Given the description of an element on the screen output the (x, y) to click on. 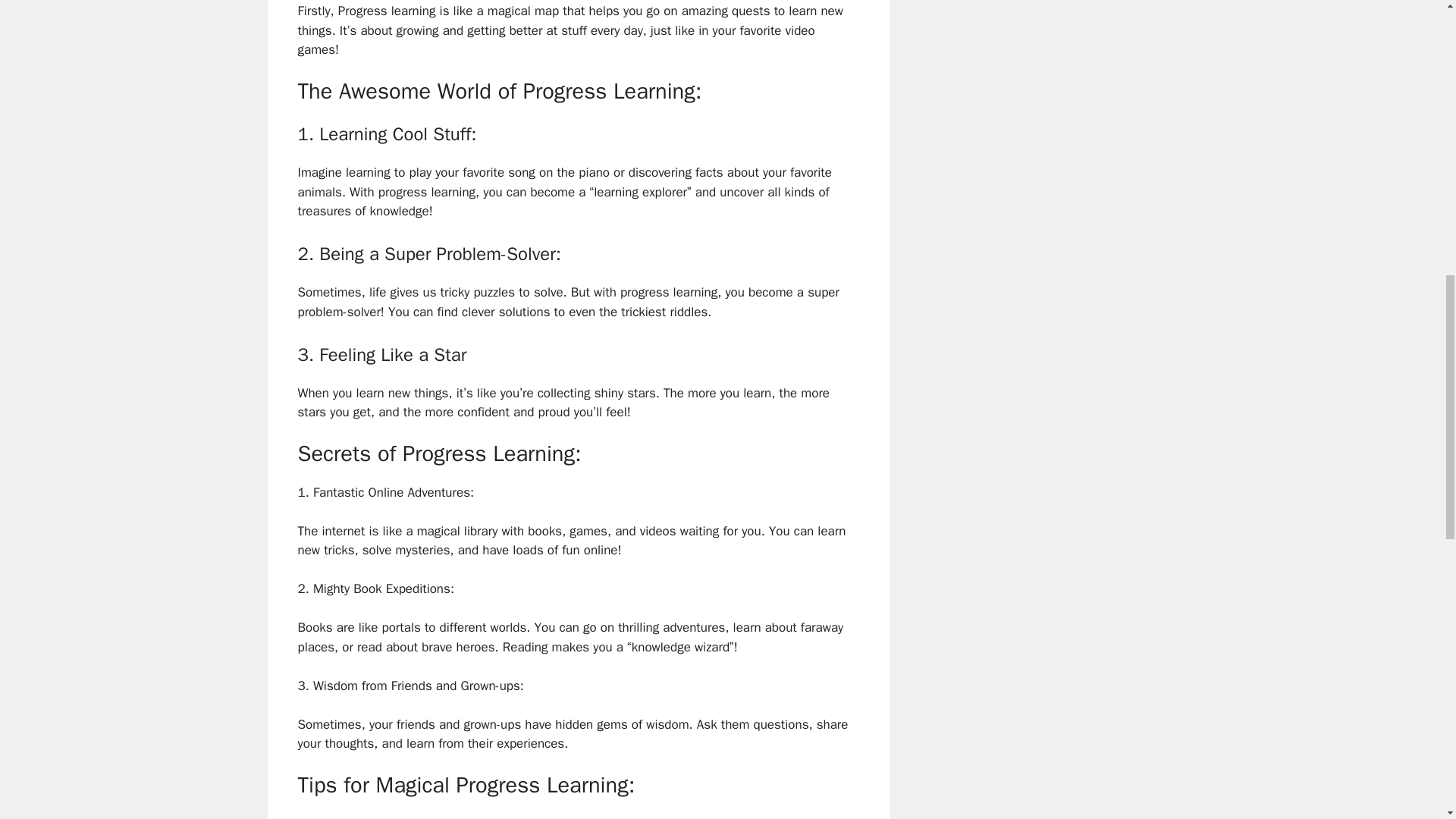
Scroll back to top (1406, 720)
